Given the description of an element on the screen output the (x, y) to click on. 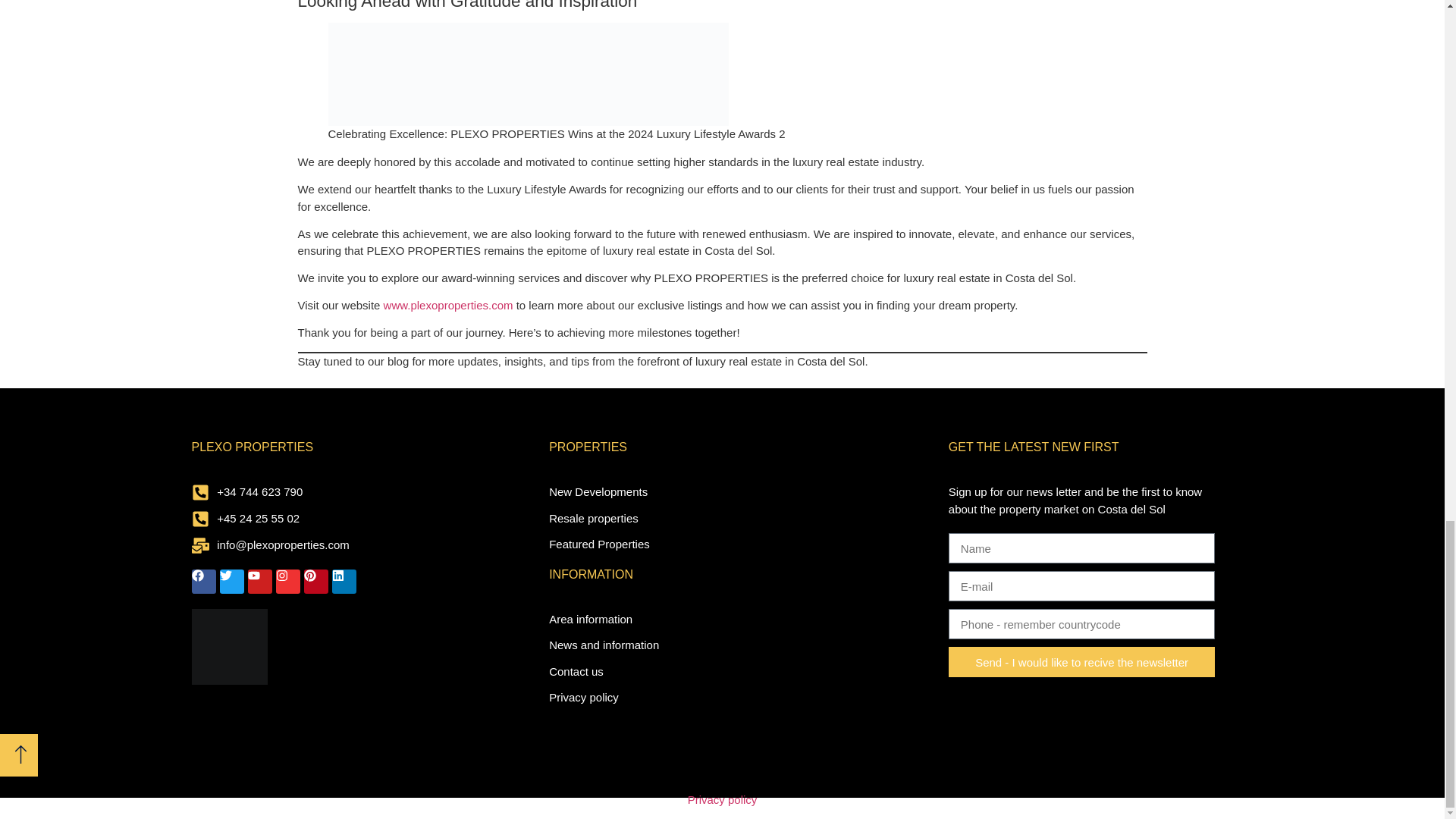
Featured Properties (721, 544)
www.plexoproperties.com (448, 305)
Resale properties (721, 518)
New Developments (721, 492)
QRcodeGenerator (228, 646)
